Given the description of an element on the screen output the (x, y) to click on. 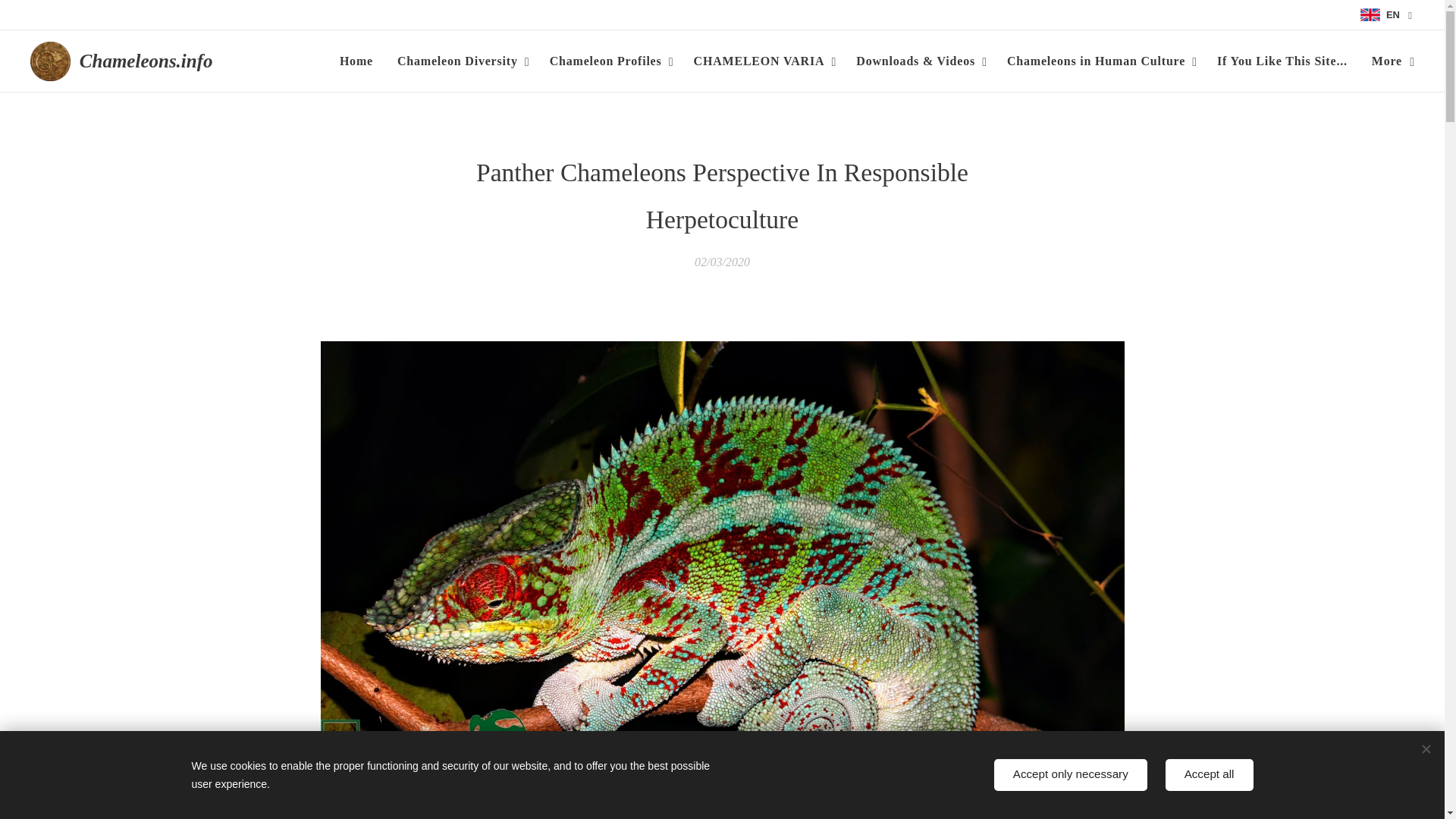
Chameleons.info (123, 61)
Home (360, 61)
Chameleon Diversity (461, 61)
